Given the description of an element on the screen output the (x, y) to click on. 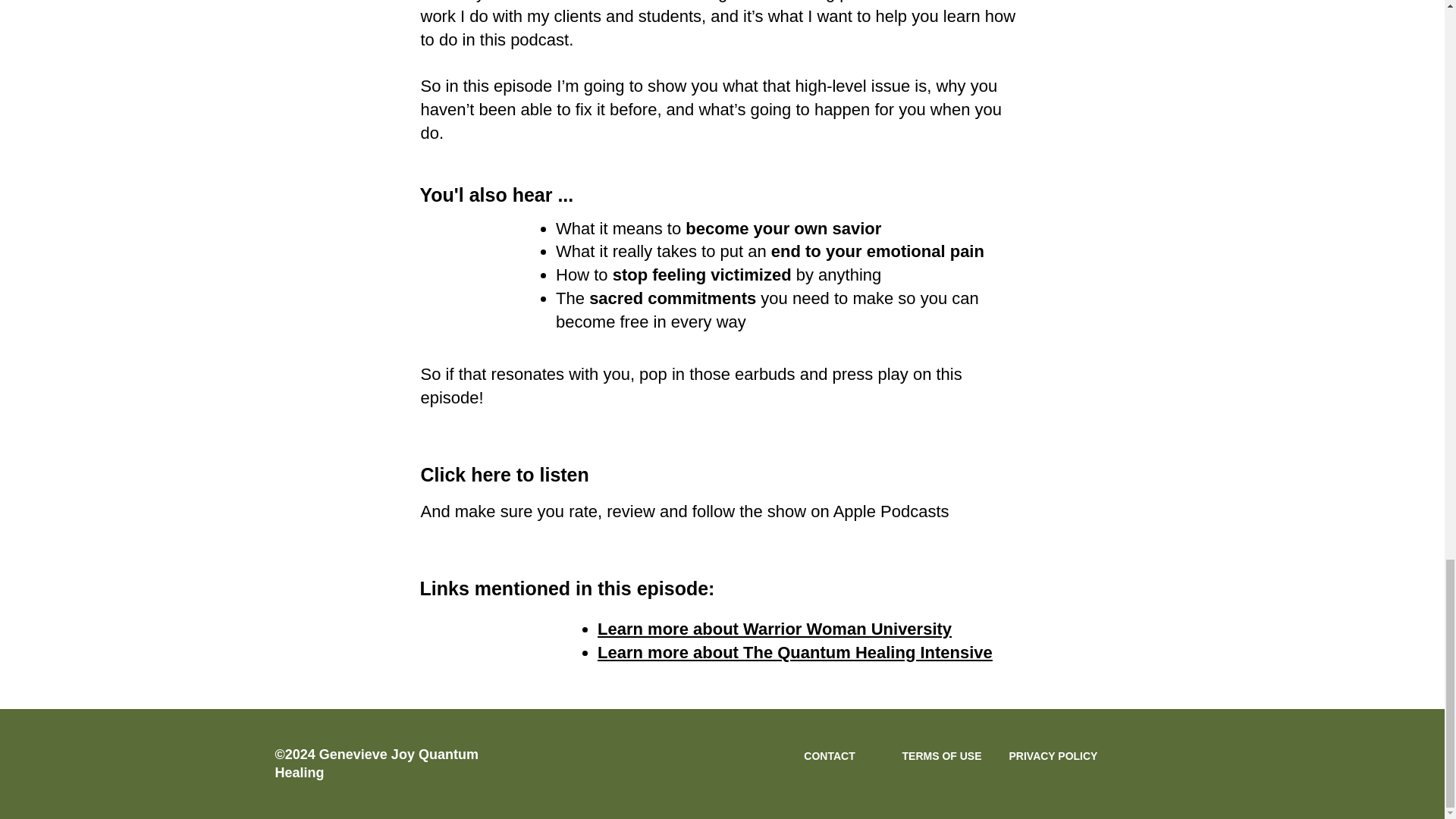
TERMS OF USE (941, 756)
Click here to listen (504, 474)
Learn more about Warrior Woman University (774, 628)
Learn more about The Quantum Healing Intensive (794, 651)
CONTACT (828, 756)
PRIVACY POLICY (1053, 756)
